Given the description of an element on the screen output the (x, y) to click on. 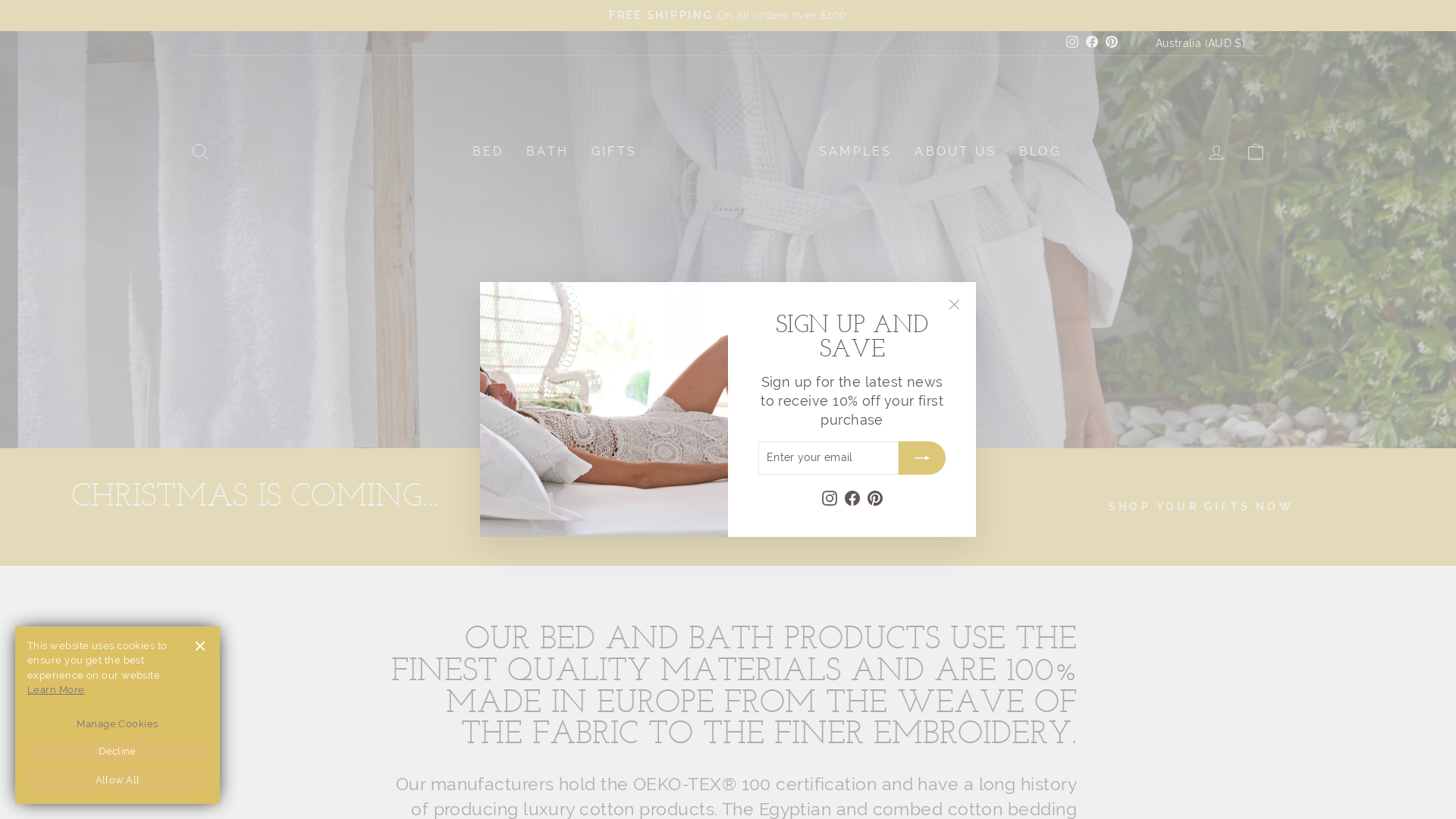
SHOP BED Element type: text (659, 399)
Instagram Element type: text (1072, 42)
Pinterest Element type: text (1111, 42)
Allow All Element type: text (117, 779)
ABOUT US Element type: text (955, 151)
SHOP BATH Element type: text (786, 399)
Decline Element type: text (117, 751)
LOG IN Element type: text (1216, 151)
BATH Element type: text (547, 151)
Learn More Element type: text (55, 689)
Facebook Element type: text (851, 496)
SAMPLES Element type: text (855, 151)
SHOP YOUR GIFTS NOW Element type: text (1200, 507)
GIFTS Element type: text (614, 151)
Australia (AUD $) Element type: text (1205, 42)
BLOG Element type: text (1039, 151)
Instagram Element type: text (829, 496)
Pinterest Element type: text (874, 496)
Facebook Element type: text (1091, 42)
CART Element type: text (1255, 151)
"Close (esc)" Element type: text (953, 303)
Close Element type: text (199, 646)
SEARCH Element type: text (199, 151)
BED Element type: text (488, 151)
Manage Cookies Element type: text (117, 724)
